Given the description of an element on the screen output the (x, y) to click on. 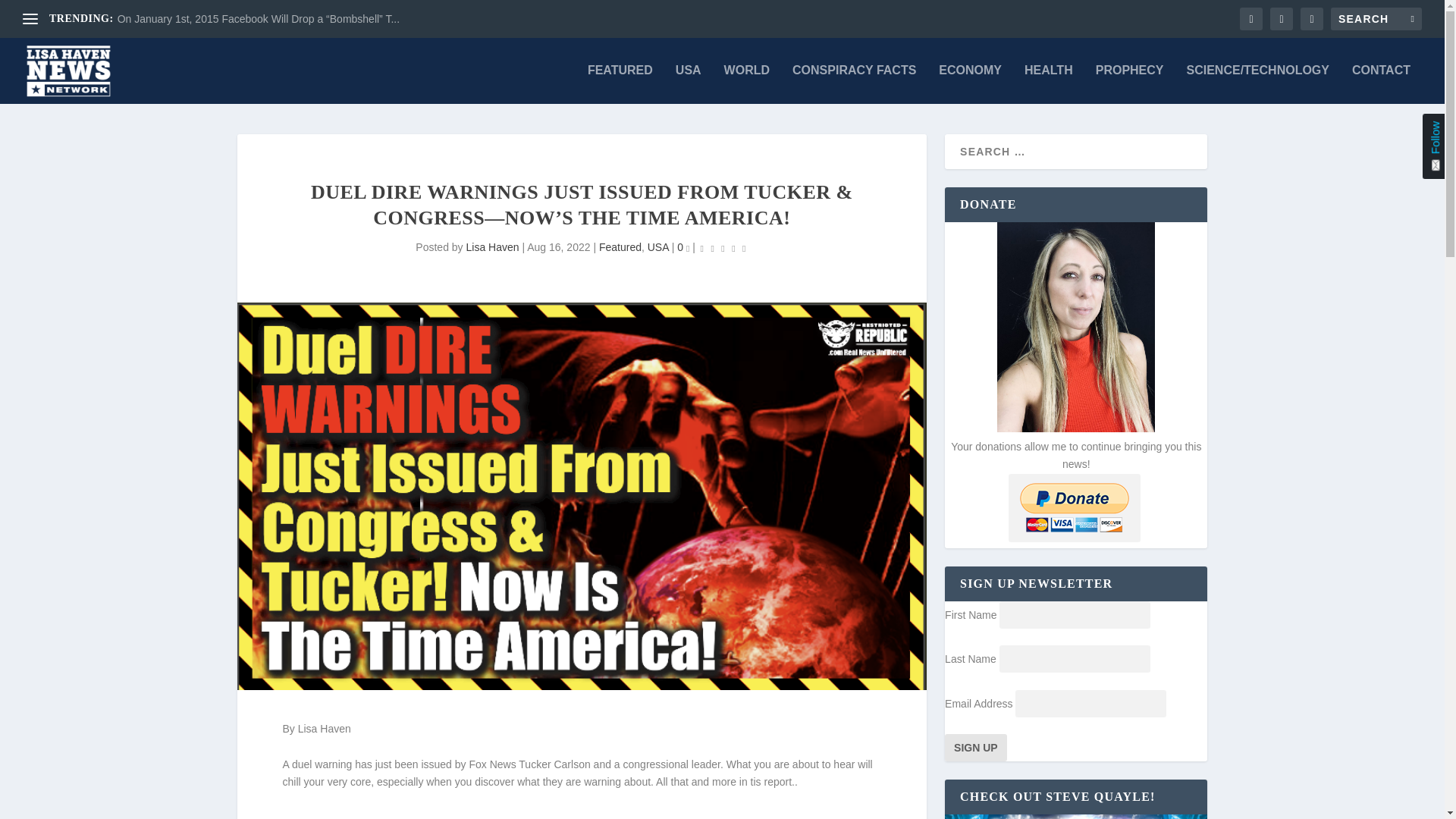
Search for: (1376, 18)
Sign up (975, 747)
ECONOMY (970, 84)
FEATURED (620, 84)
CONSPIRACY FACTS (853, 84)
USA (657, 246)
0 (682, 246)
Posts by Lisa Haven (491, 246)
HEALTH (1049, 84)
Featured (620, 246)
Rating: 0.00 (723, 248)
CONTACT (1381, 84)
WORLD (746, 84)
Lisa Haven (491, 246)
PROPHECY (1129, 84)
